Given the description of an element on the screen output the (x, y) to click on. 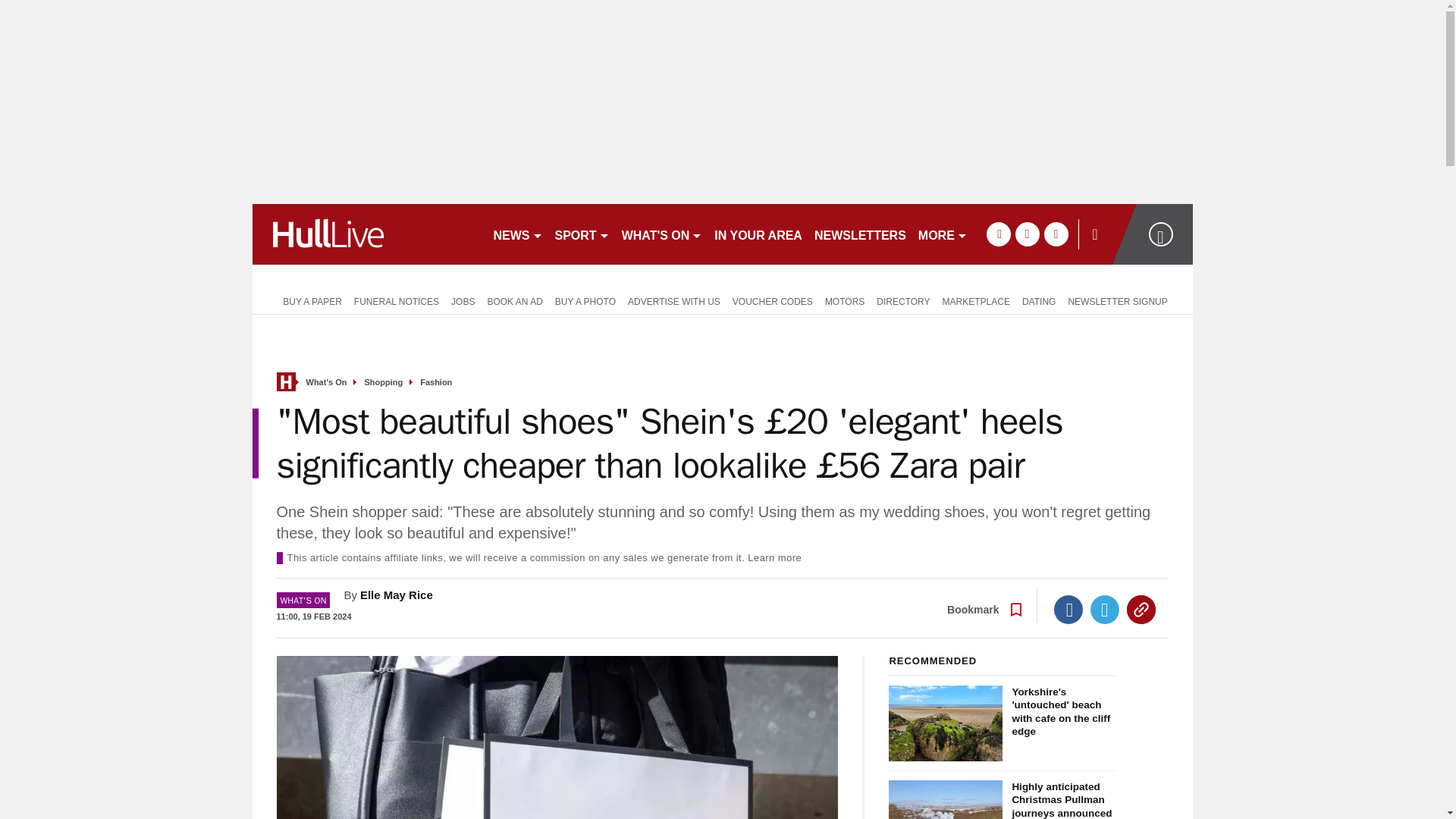
instagram (1055, 233)
hulldailymail (365, 233)
IN YOUR AREA (757, 233)
SPORT (581, 233)
WHAT'S ON (662, 233)
Facebook (1068, 609)
NEWSLETTERS (860, 233)
Twitter (1104, 609)
facebook (997, 233)
NEWS (517, 233)
